Given the description of an element on the screen output the (x, y) to click on. 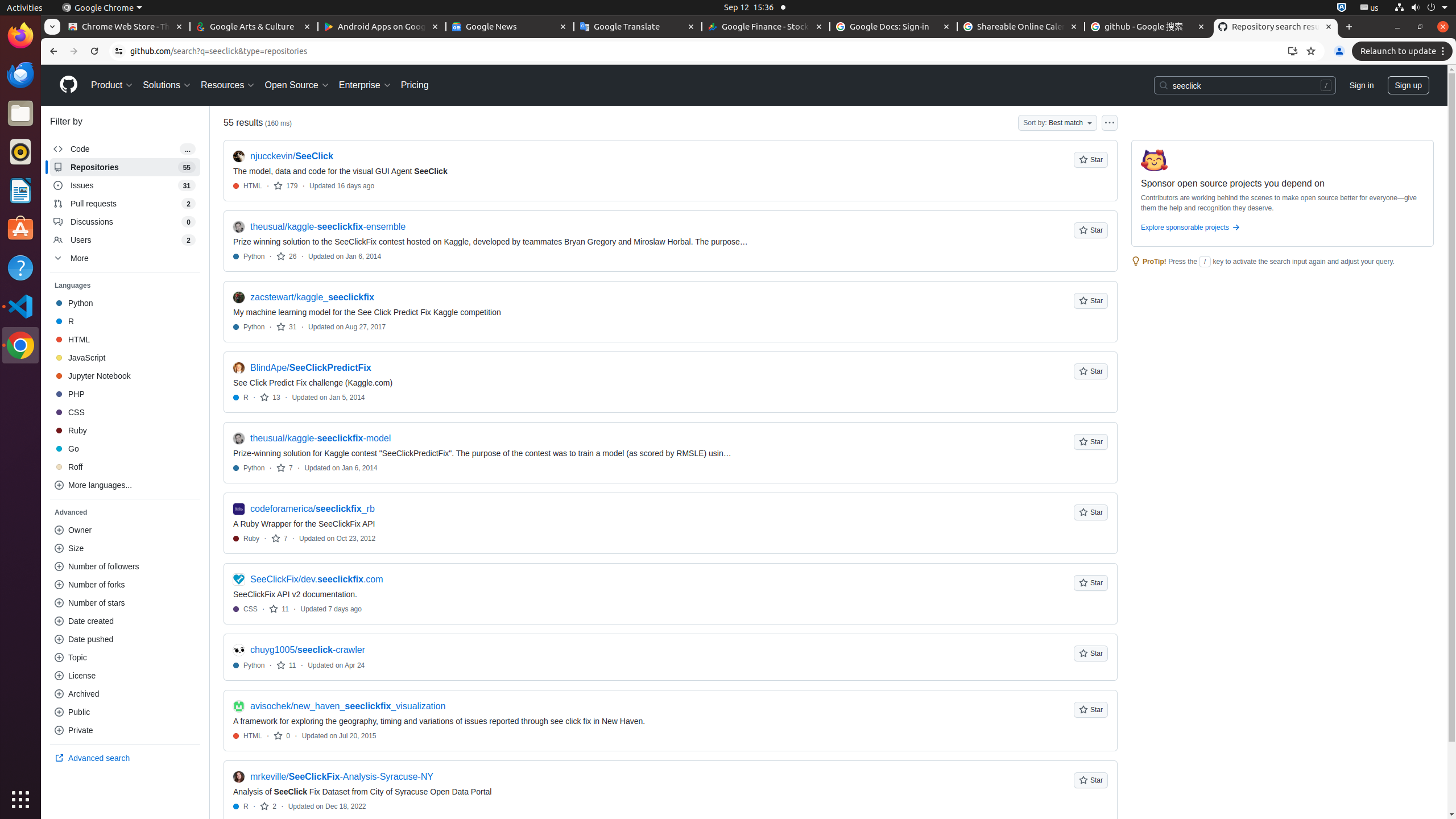
Ubuntu Software Element type: push-button (20, 229)
‎Size‎ Element type: push-button (125, 548)
Google Chrome Element type: menu (101, 7)
codeforamerica/seeclickfix_rb Element type: link (312, 508)
‎Archived‎ Element type: push-button (125, 693)
